Given the description of an element on the screen output the (x, y) to click on. 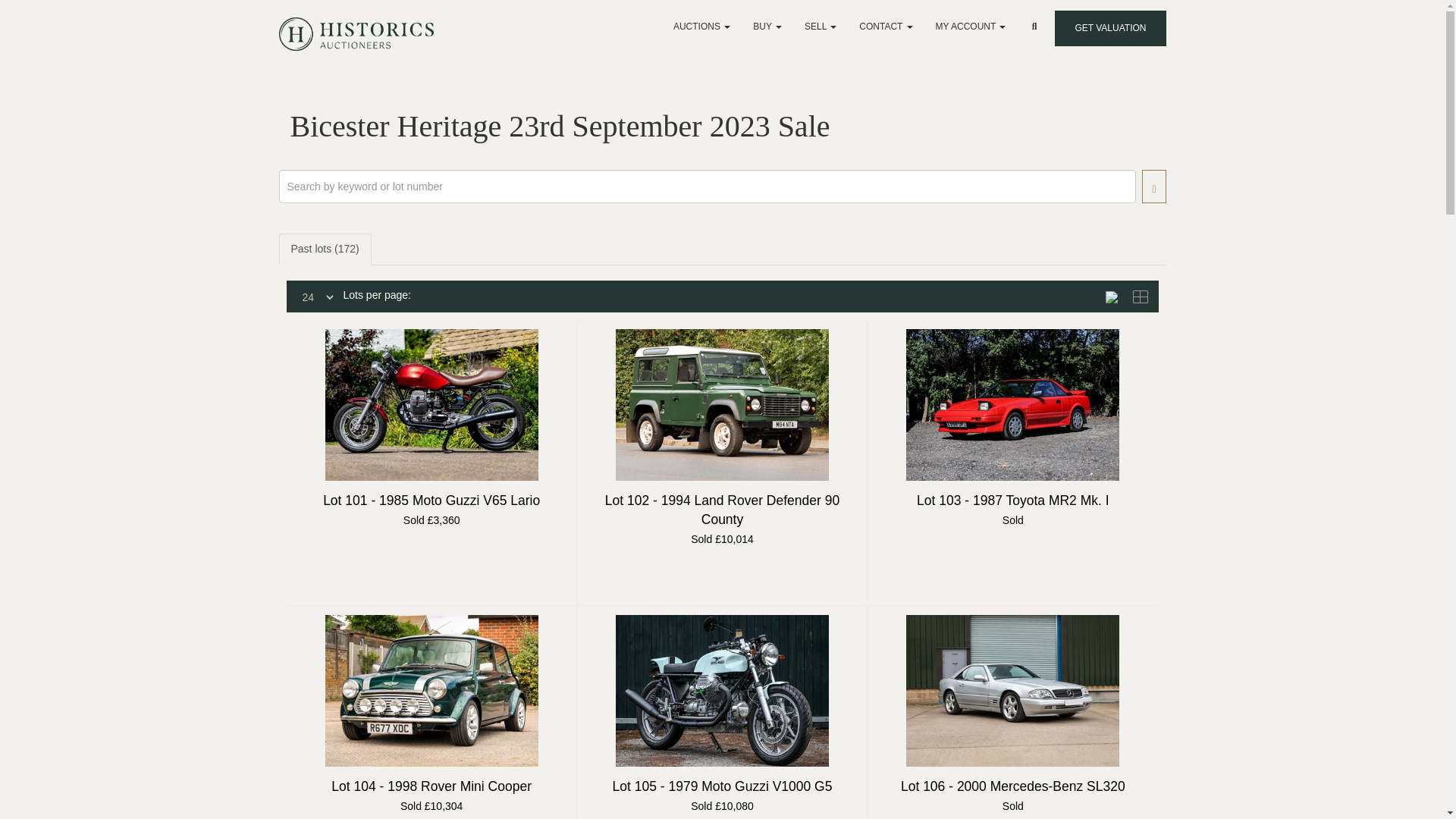
MY ACCOUNT (970, 26)
Show in list (1116, 295)
AUCTIONS (701, 26)
SELL (820, 26)
BUY (767, 26)
GET VALUATION (1110, 27)
Show in grid (1142, 295)
CONTACT (885, 26)
